Given the description of an element on the screen output the (x, y) to click on. 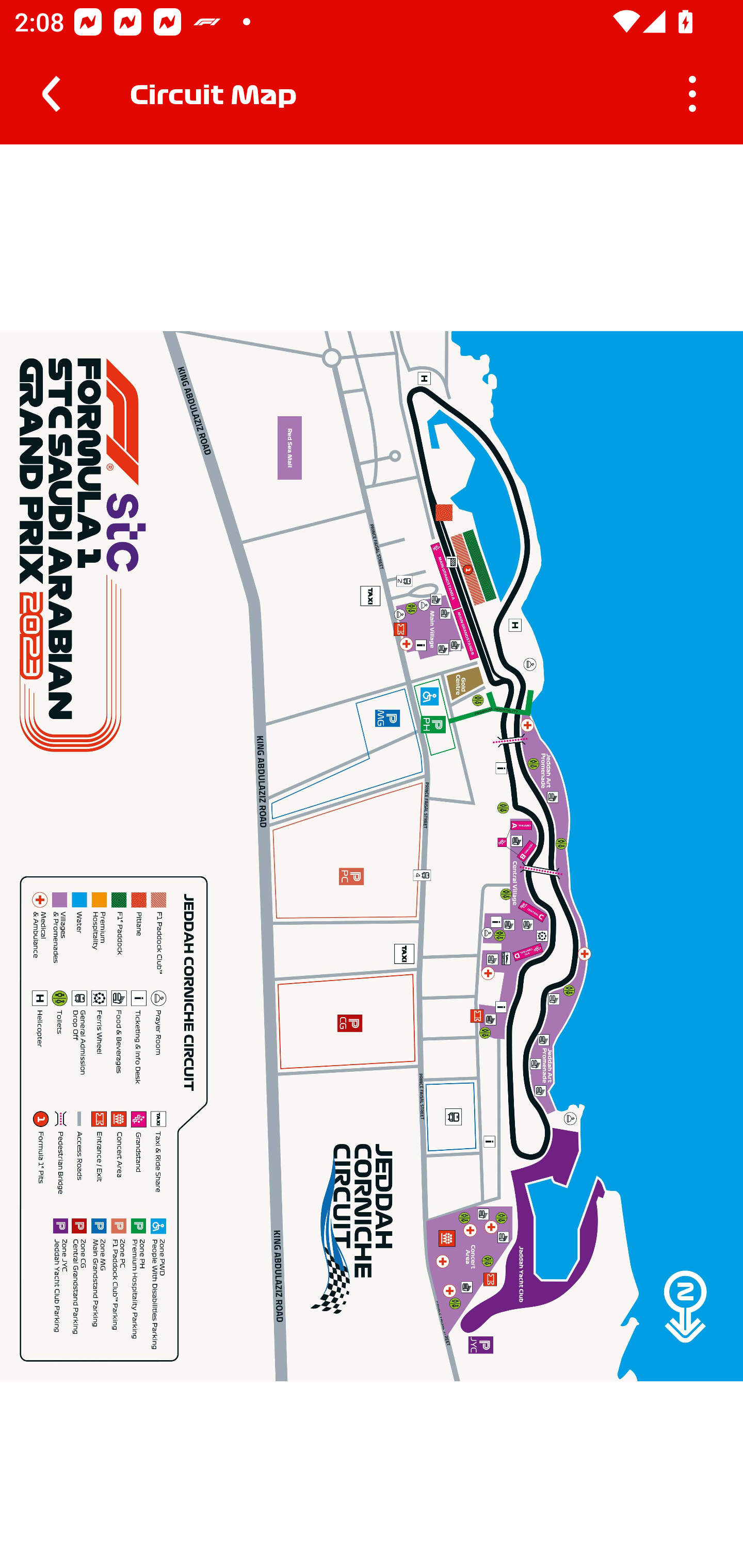
Navigate up (50, 93)
